Given the description of an element on the screen output the (x, y) to click on. 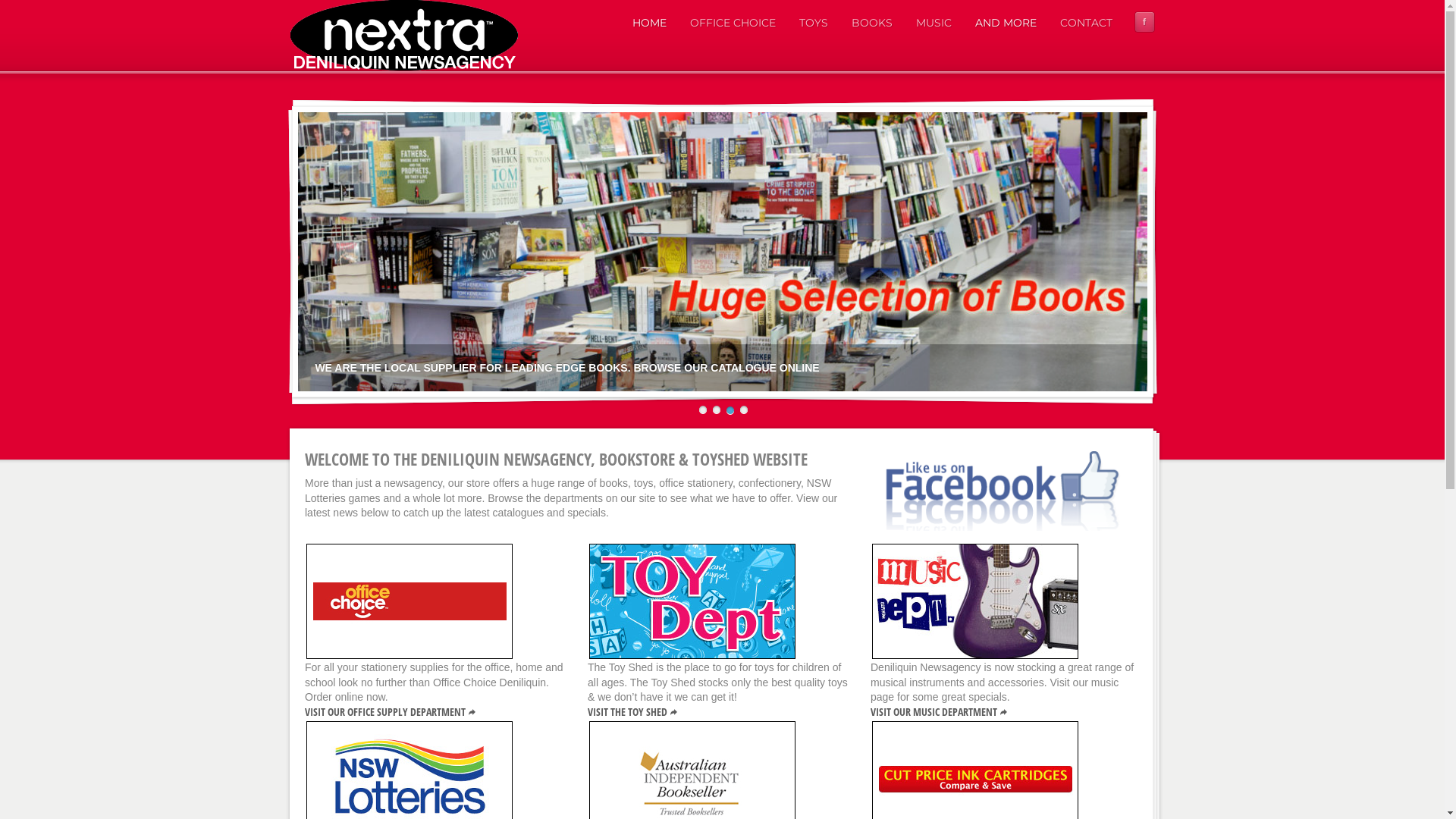
4 Element type: text (742, 410)
VISIT OUR OFFICE SUPPLY DEPARTMENT Element type: text (390, 711)
2 Element type: text (715, 410)
TOYS Element type: text (813, 22)
Facebook Element type: text (1144, 21)
Our Bookstore Element type: hover (692, 777)
HOME Element type: text (648, 22)
VISIT THE TOY SHED Element type: text (633, 711)
BOOKS Element type: text (872, 22)
The Toy Shed Element type: hover (692, 600)
AND MORE Element type: text (1005, 22)
1 Element type: text (701, 410)
VISIT OUR MUSIC DEPARTMENT Element type: text (939, 711)
3 Element type: text (729, 410)
OFFICE CHOICE Element type: text (732, 22)
NSW Lotteries Element type: hover (409, 777)
MUSIC Element type: text (933, 22)
CONTACT Element type: text (1085, 22)
